Given the description of an element on the screen output the (x, y) to click on. 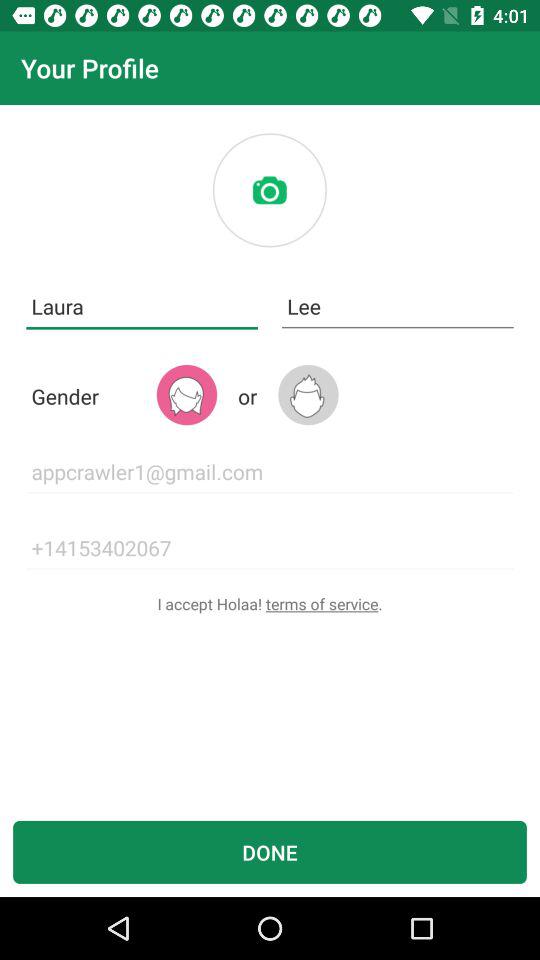
jump until laura icon (142, 306)
